Given the description of an element on the screen output the (x, y) to click on. 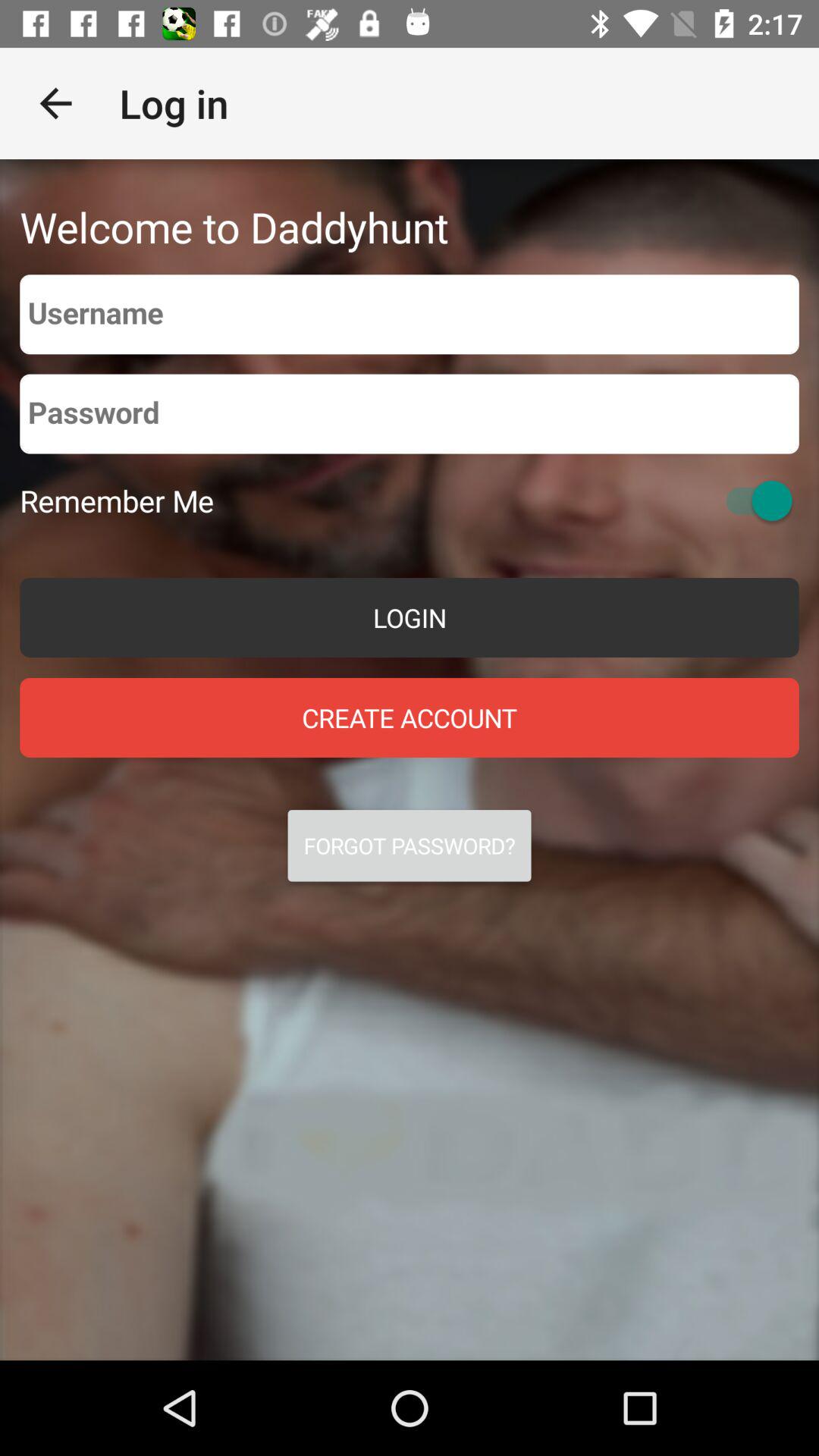
enter username (409, 314)
